Given the description of an element on the screen output the (x, y) to click on. 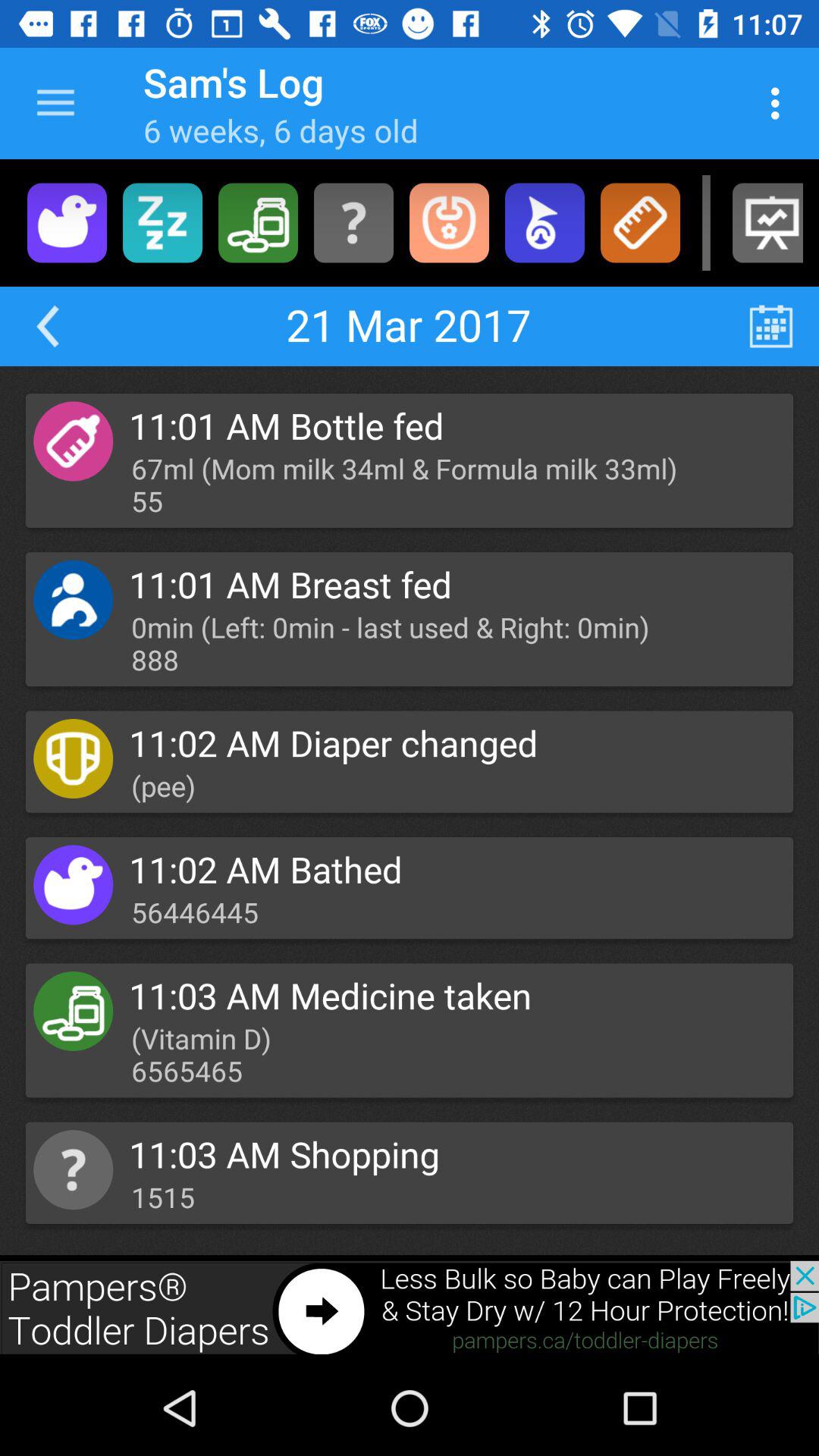
bathed portion of menu (66, 222)
